Given the description of an element on the screen output the (x, y) to click on. 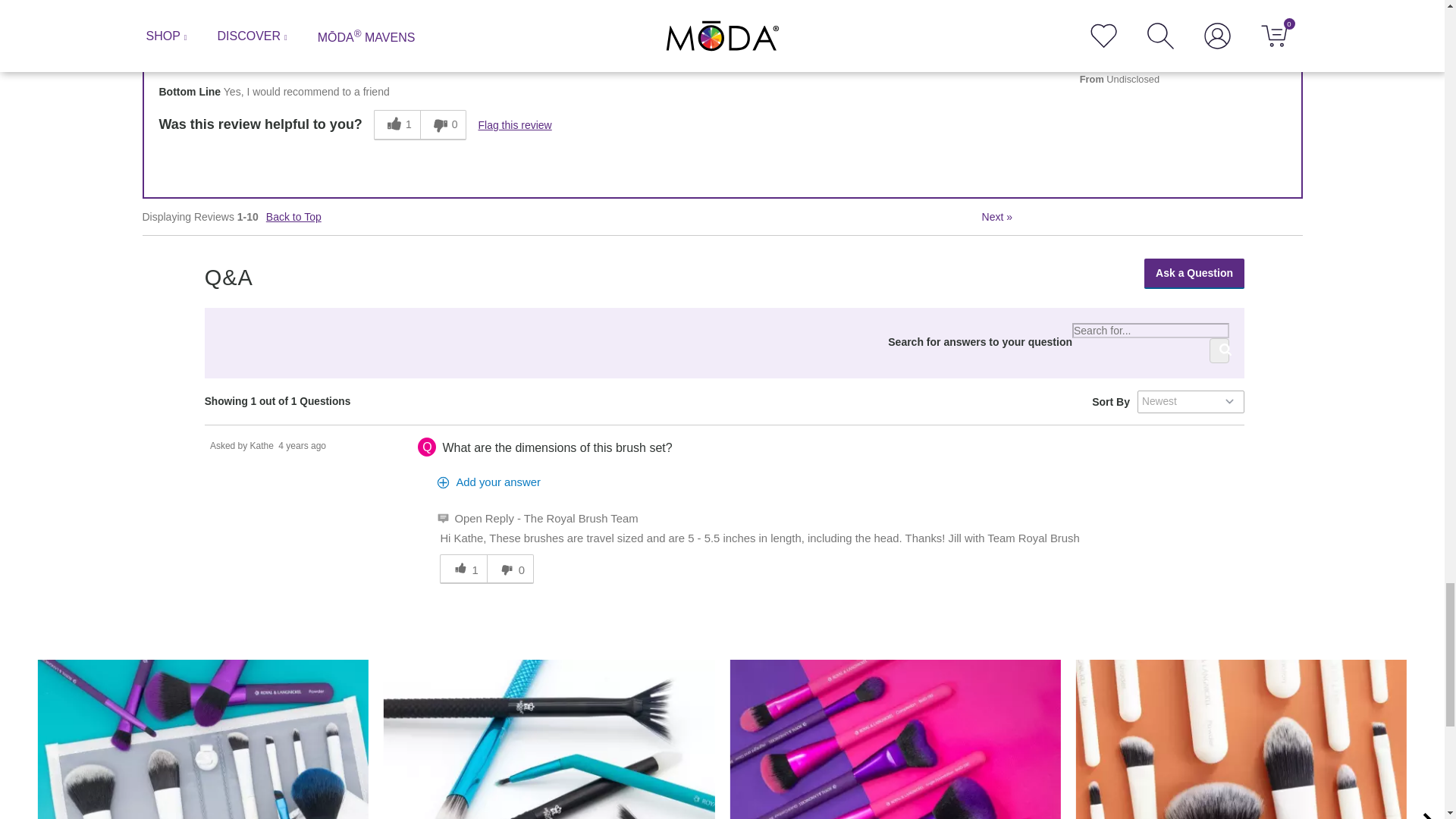
Question (427, 446)
